Given the description of an element on the screen output the (x, y) to click on. 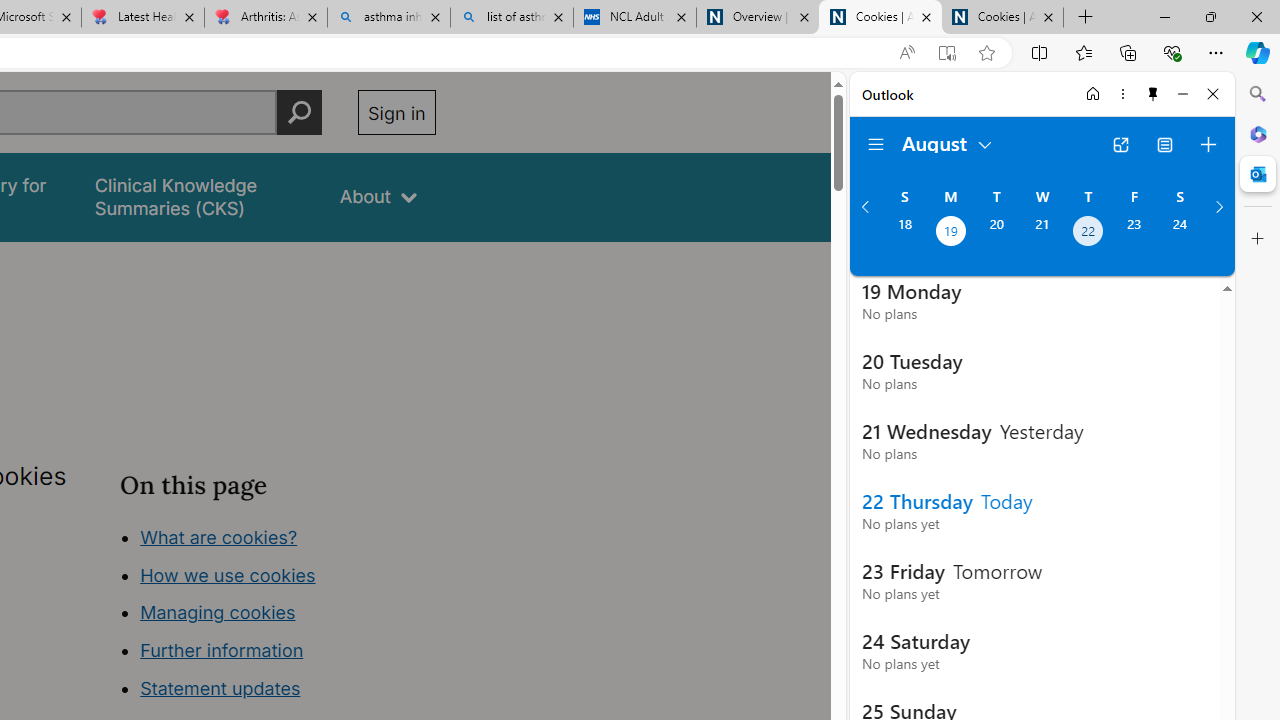
Perform search (299, 112)
Managing cookies (217, 612)
false (198, 196)
August (948, 141)
Sunday, August 18, 2024.  (904, 233)
Unpin side pane (1153, 93)
